Given the description of an element on the screen output the (x, y) to click on. 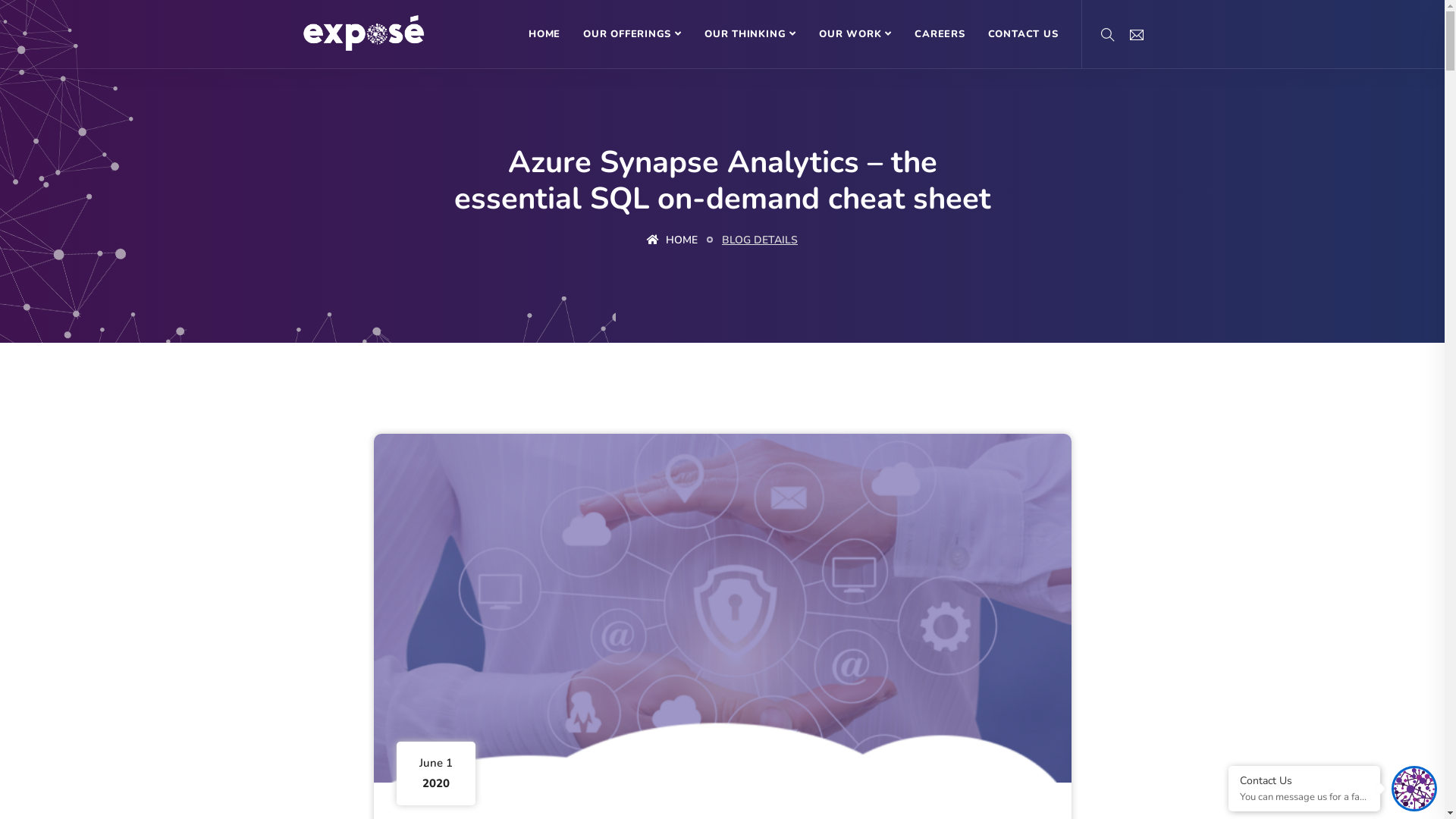
OUR WORK Element type: text (855, 34)
June 1
2020 Element type: text (721, 607)
CONTACT US Element type: text (1023, 34)
OUR OFFERINGS Element type: text (632, 34)
HOME Element type: text (671, 240)
OUR THINKING Element type: text (750, 34)
CAREERS Element type: text (939, 34)
HOME Element type: text (544, 34)
